Given the description of an element on the screen output the (x, y) to click on. 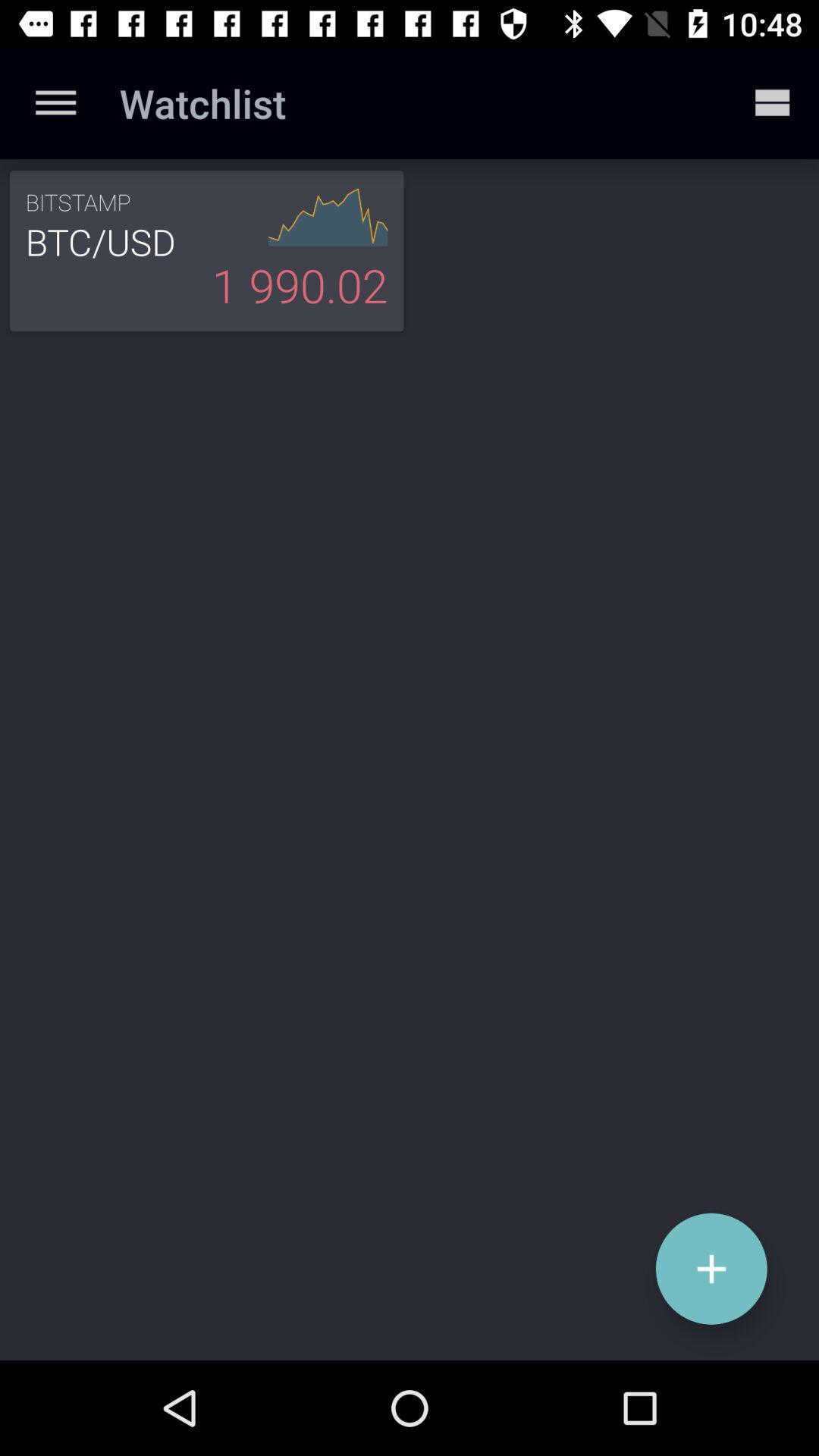
turn on icon to the right of the watchlist icon (771, 103)
